Given the description of an element on the screen output the (x, y) to click on. 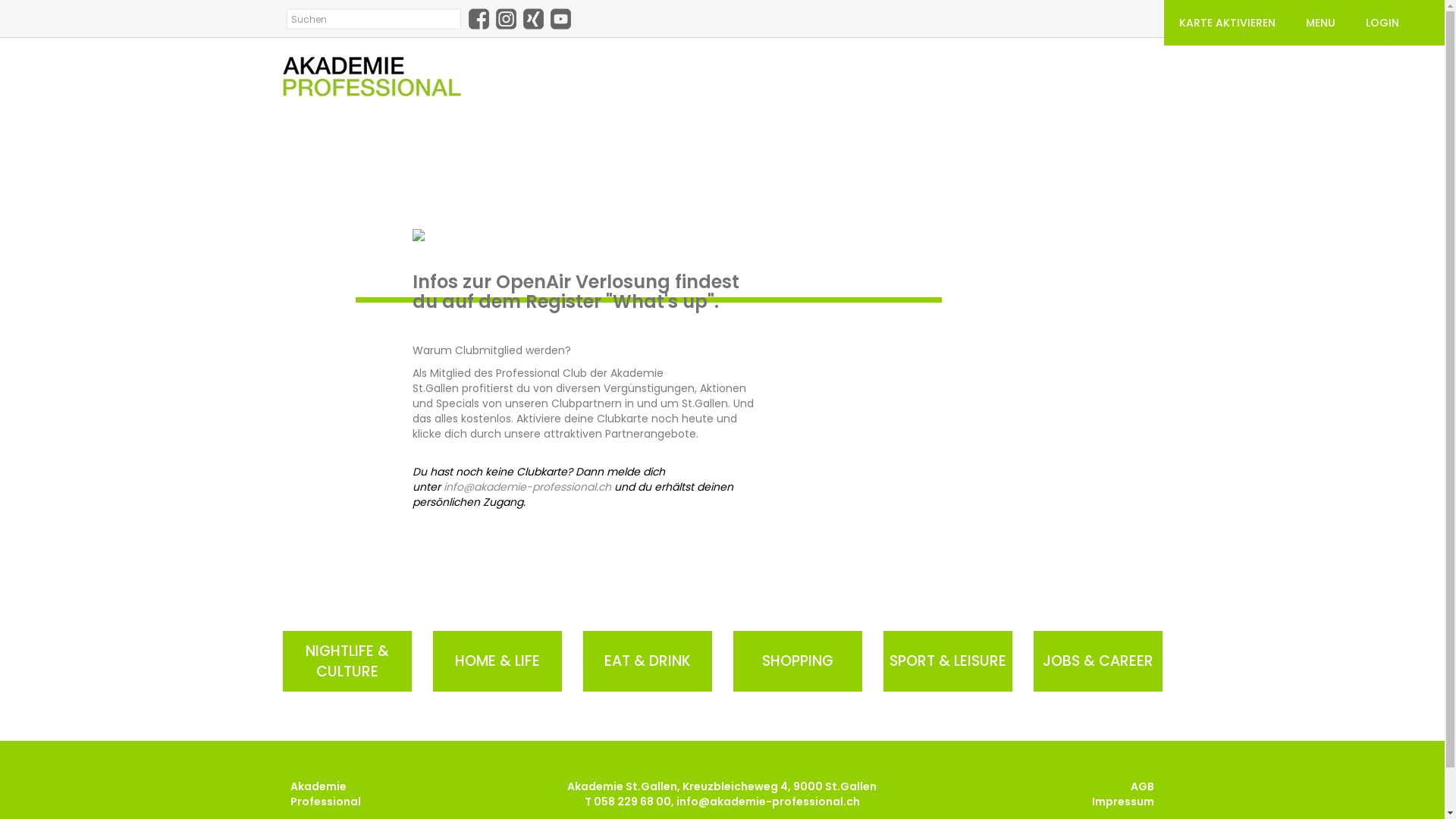
info@akademie-professional.ch Element type: text (767, 801)
JOBS & CAREER Element type: text (1096, 660)
HOME & LIFE Element type: text (497, 660)
Impressum Element type: text (1123, 801)
LOGIN Element type: text (1382, 22)
NIGHTLIFE & CULTURE Element type: text (346, 660)
SHOPPING Element type: text (796, 660)
MENU Element type: text (1320, 22)
KARTE AKTIVIEREN Element type: text (1227, 22)
AGB Element type: text (1142, 785)
info@akademie-professional.ch Element type: text (527, 486)
EAT & DRINK Element type: text (646, 660)
SPORT & LEISURE Element type: text (946, 660)
